Given the description of an element on the screen output the (x, y) to click on. 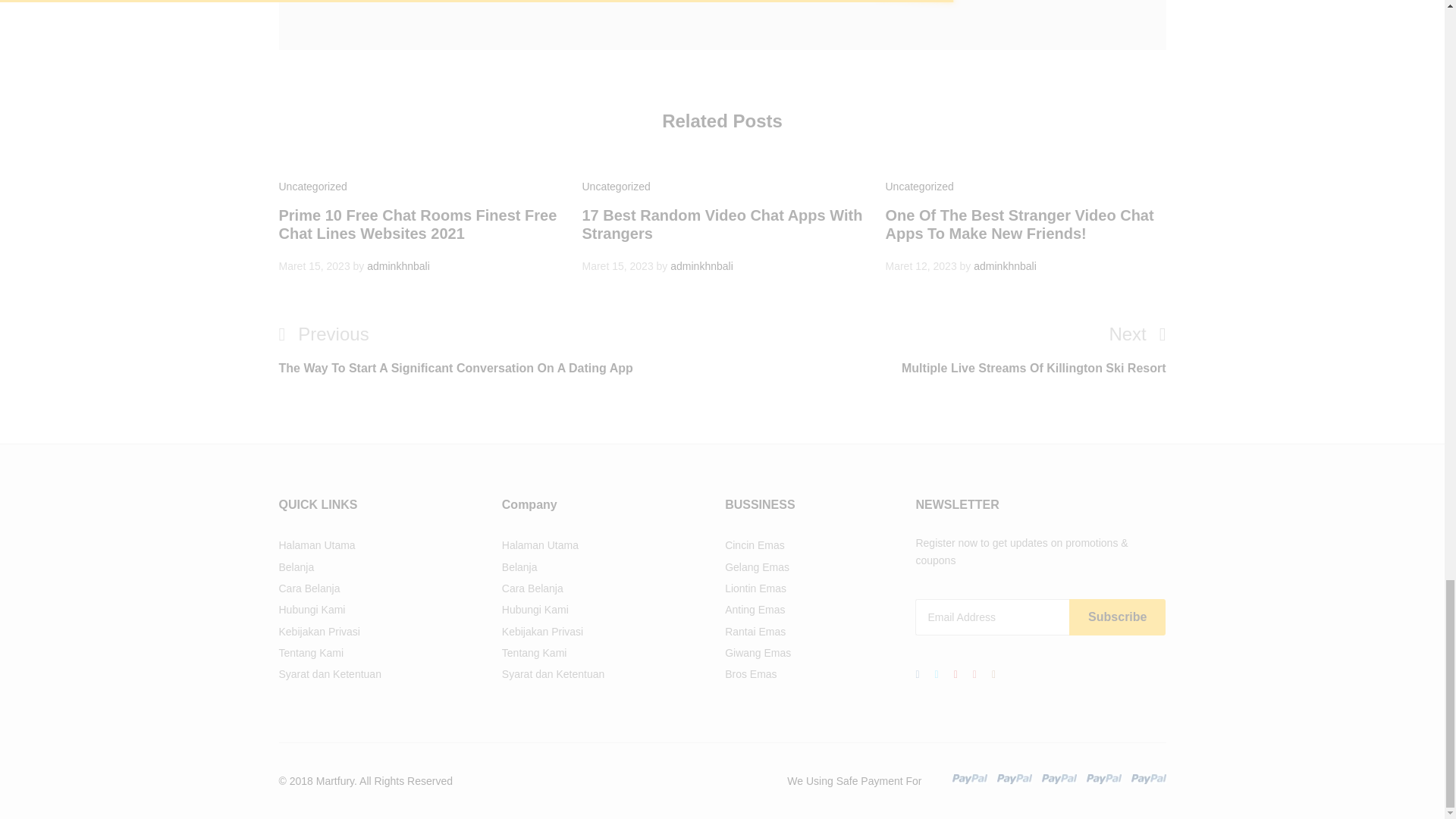
Facebook (916, 673)
Subscribe (1117, 616)
Google Plus (955, 673)
Instagram (993, 673)
Youtube (974, 673)
Twitter (936, 673)
